Given the description of an element on the screen output the (x, y) to click on. 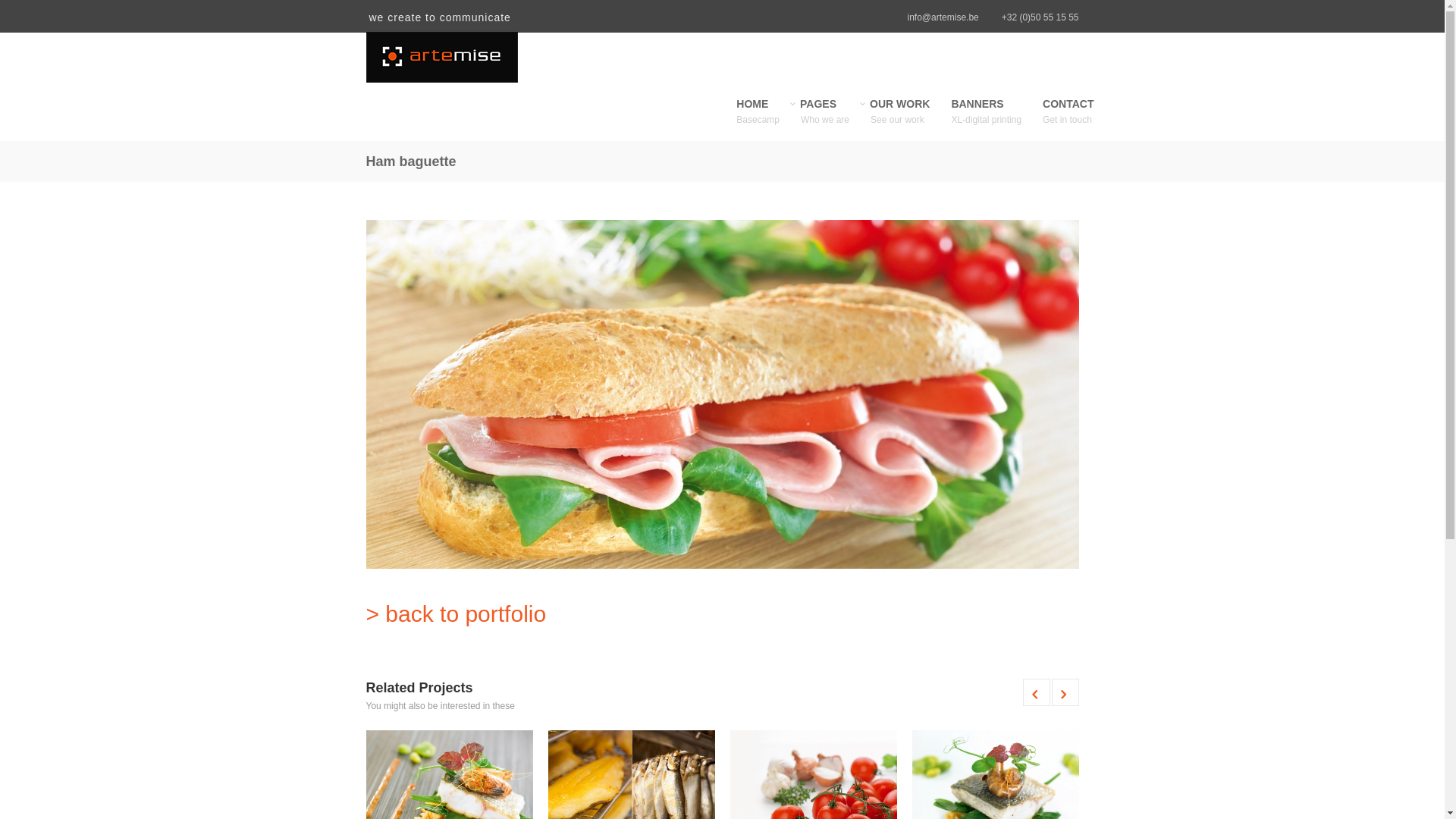
Overslaan en naar de inhoud gaan Element type: text (70, 0)
CONTACT
Get in touch Element type: text (1067, 119)
+32 (0)50 55 15 55 Element type: text (1040, 17)
> back to portfolio Element type: text (455, 613)
BANNERS
XL-digital printing Element type: text (985, 119)
Home Element type: hover (479, 56)
info@artemise.be Element type: text (943, 17)
HOME
Basecamp Element type: text (757, 119)
OUR WORK
See our work Element type: text (899, 119)
PAGES
Who we are Element type: text (824, 119)
